Given the description of an element on the screen output the (x, y) to click on. 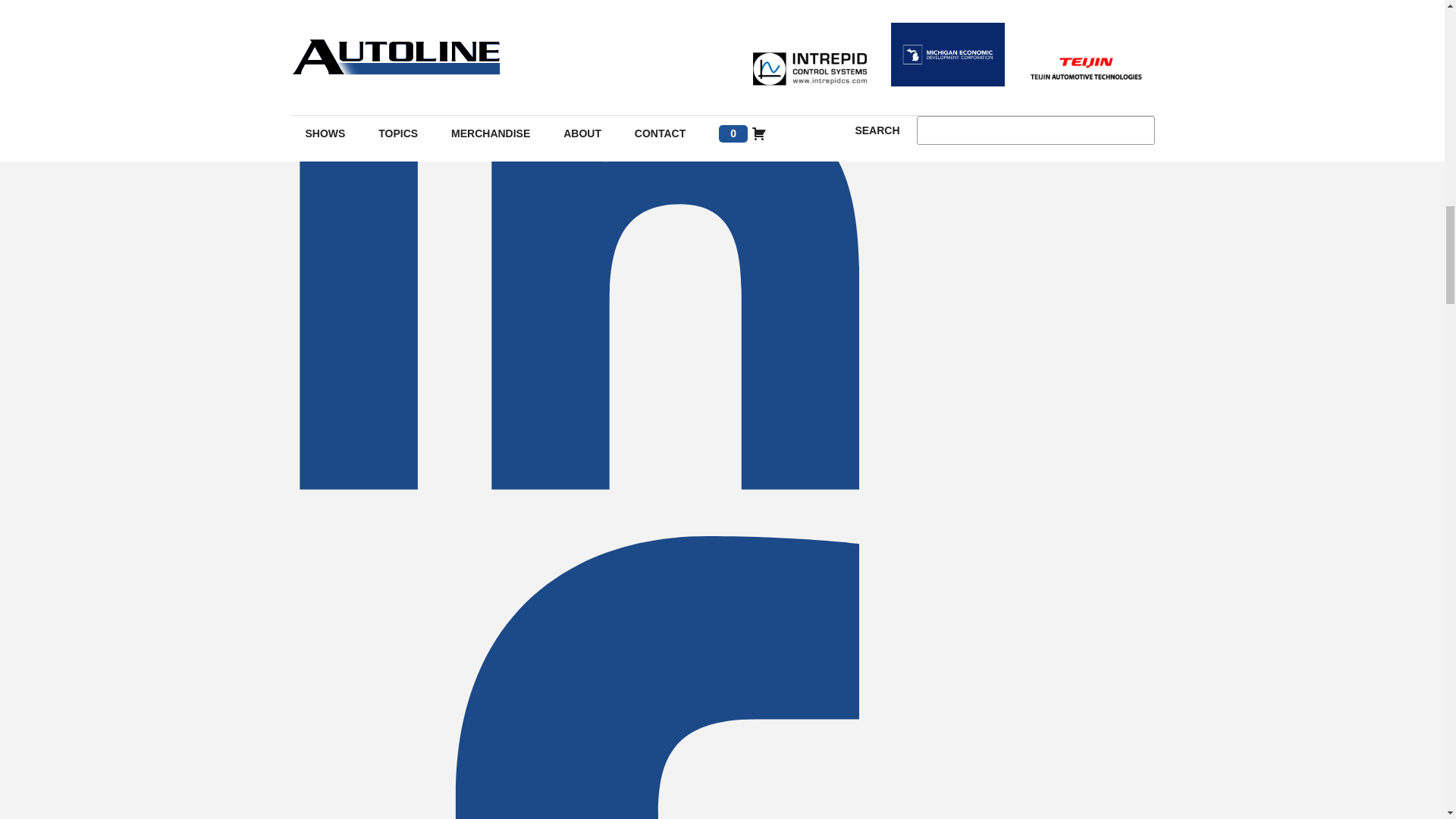
Linkedin (574, 525)
